Given the description of an element on the screen output the (x, y) to click on. 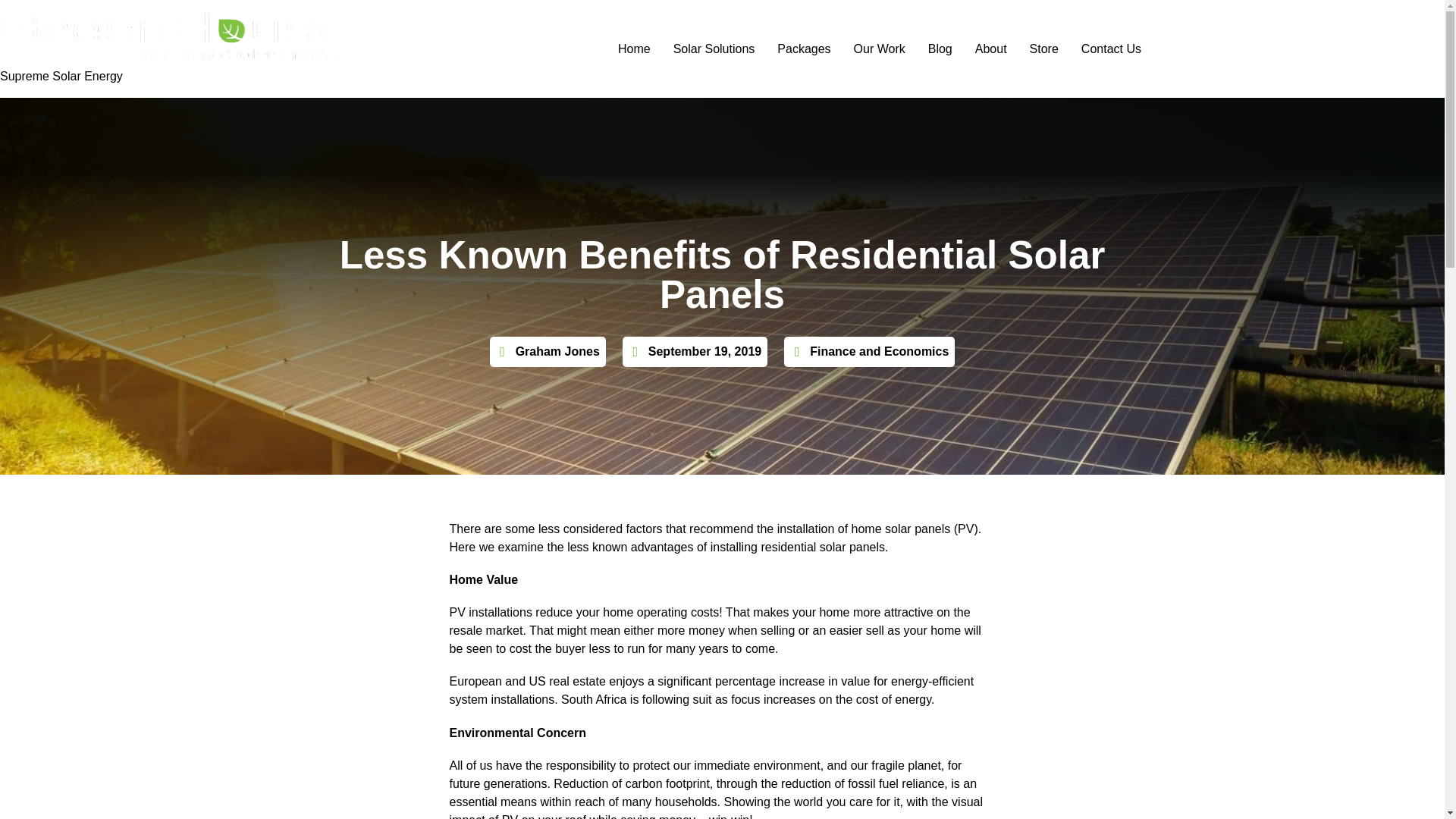
About (990, 49)
Contact Us (1111, 49)
Solar Solutions (714, 49)
Store (1043, 49)
Packages (803, 49)
September 19, 2019 (694, 352)
Blog (940, 49)
Graham Jones (547, 352)
Finance and Economics (879, 350)
Home (634, 49)
